Given the description of an element on the screen output the (x, y) to click on. 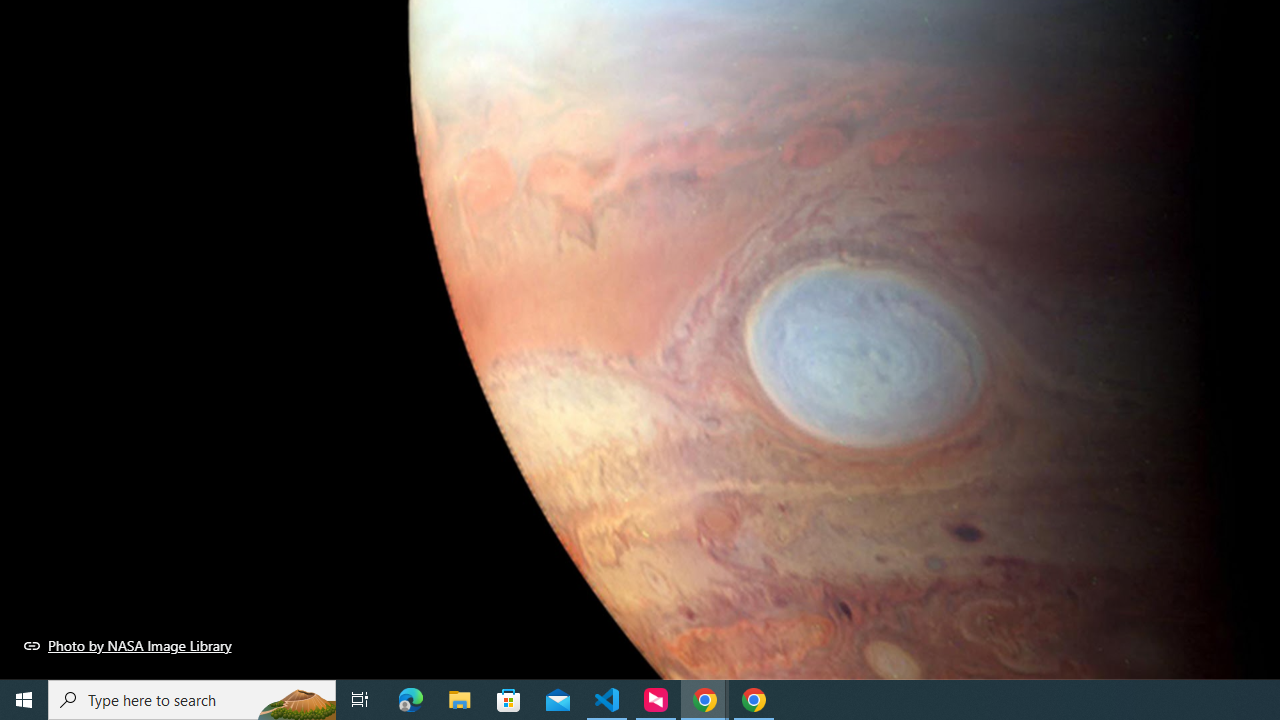
Photo by NASA Image Library (127, 645)
